Given the description of an element on the screen output the (x, y) to click on. 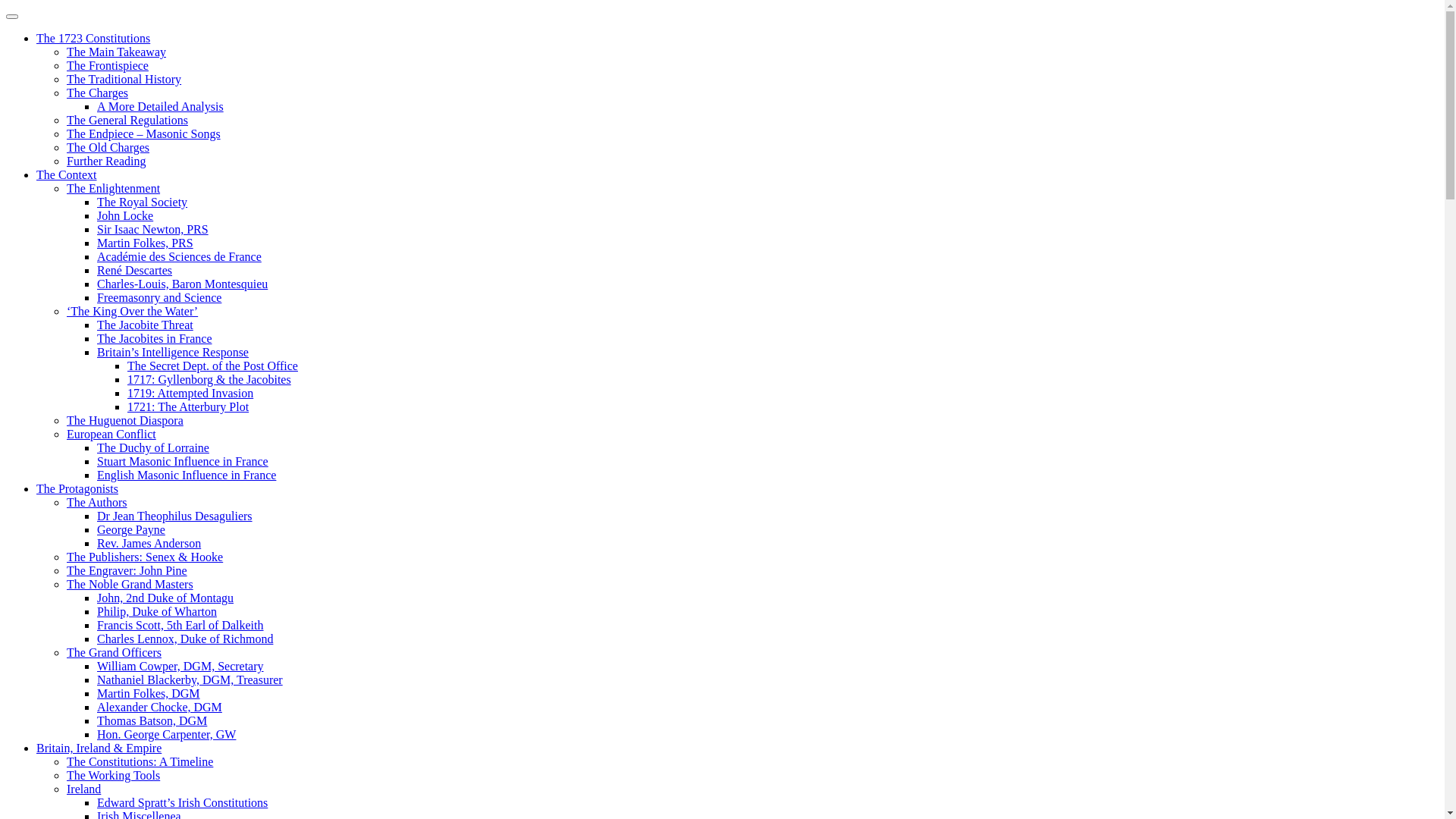
William Cowper, DGM, Secretary Element type: text (180, 665)
The Duchy of Lorraine Element type: text (153, 447)
The Frontispiece Element type: text (107, 65)
Ireland Element type: text (83, 788)
1719: Attempted Invasion Element type: text (190, 392)
John Locke Element type: text (125, 215)
Rev. James Anderson Element type: text (148, 542)
Dr Jean Theophilus Desaguliers Element type: text (174, 515)
The Jacobite Threat Element type: text (145, 324)
Martin Folkes, DGM Element type: text (148, 693)
The Constitutions: A Timeline Element type: text (139, 761)
John, 2nd Duke of Montagu Element type: text (165, 597)
The Traditional History Element type: text (123, 78)
Sir Isaac Newton, PRS Element type: text (152, 228)
European Conflict Element type: text (111, 433)
Martin Folkes, PRS Element type: text (145, 242)
Further Reading Element type: text (105, 160)
A More Detailed Analysis Element type: text (160, 106)
The Secret Dept. of the Post Office Element type: text (212, 365)
Francis Scott, 5th Earl of Dalkeith Element type: text (180, 624)
The Jacobites in France Element type: text (154, 338)
Philip, Duke of Wharton Element type: text (156, 611)
Nathaniel Blackerby, DGM, Treasurer Element type: text (189, 679)
Charles-Louis, Baron Montesquieu Element type: text (182, 283)
1721: The Atterbury Plot Element type: text (187, 406)
The Charges Element type: text (97, 92)
The Working Tools Element type: text (113, 774)
Charles Lennox, Duke of Richmond Element type: text (185, 638)
The Engraver: John Pine Element type: text (126, 570)
The Royal Society Element type: text (142, 201)
The Old Charges Element type: text (107, 147)
Thomas Batson, DGM Element type: text (152, 720)
Stuart Masonic Influence in France Element type: text (182, 461)
Hon. George Carpenter, GW Element type: text (166, 734)
The Enlightenment Element type: text (113, 188)
The Authors Element type: text (96, 501)
Alexander Chocke, DGM Element type: text (159, 706)
The 1723 Constitutions Element type: text (93, 37)
English Masonic Influence in France Element type: text (186, 474)
George Payne Element type: text (131, 529)
The Grand Officers Element type: text (113, 652)
The Huguenot Diaspora Element type: text (124, 420)
The General Regulations Element type: text (127, 119)
1717: Gyllenborg & the Jacobites Element type: text (209, 379)
Britain, Ireland & Empire Element type: text (98, 747)
The Noble Grand Masters Element type: text (129, 583)
The Main Takeaway Element type: text (116, 51)
The Publishers: Senex & Hooke Element type: text (144, 556)
The Context Element type: text (66, 174)
Freemasonry and Science Element type: text (159, 297)
The Protagonists Element type: text (77, 488)
